Given the description of an element on the screen output the (x, y) to click on. 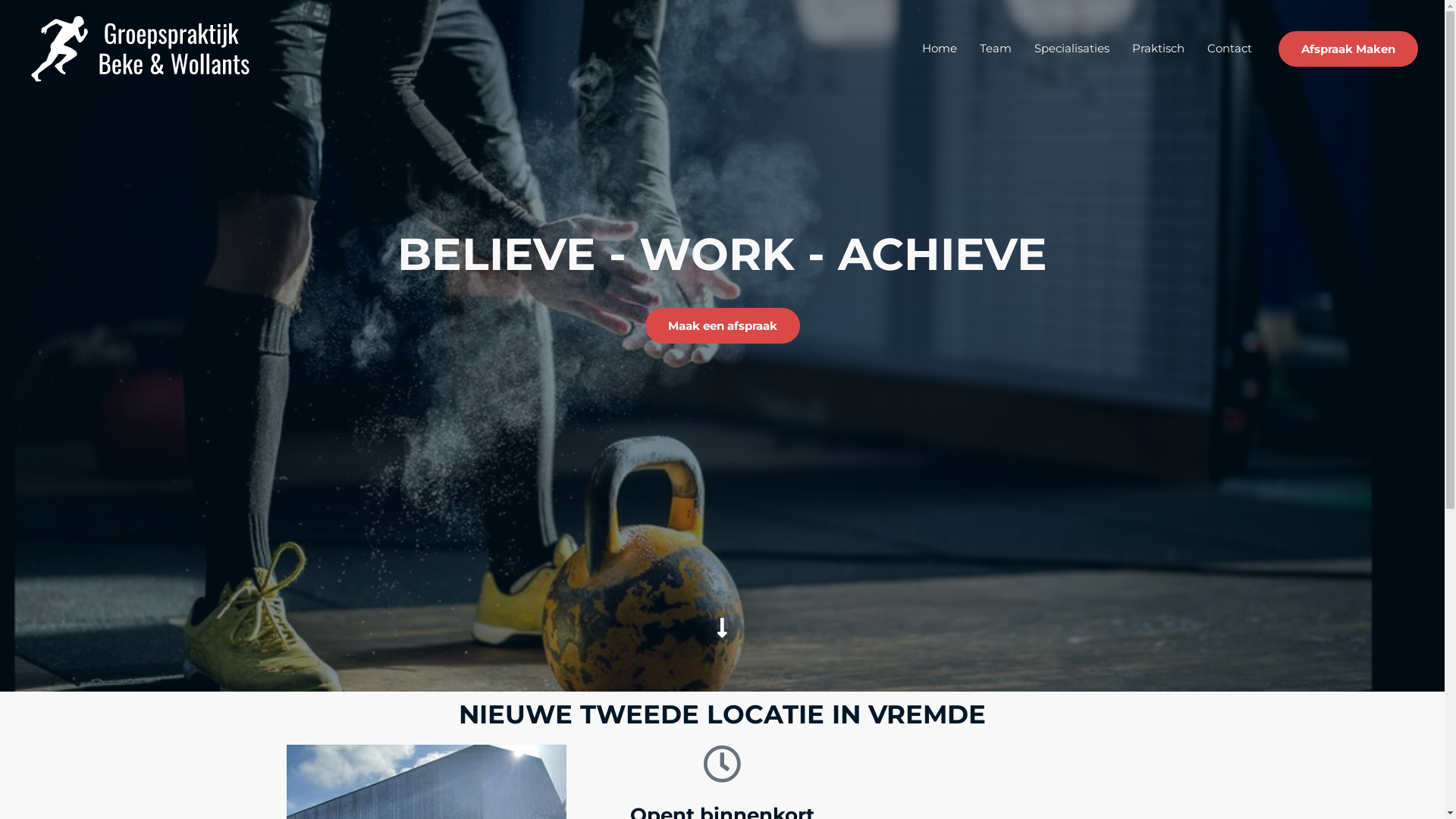
Specialisaties Element type: text (1071, 48)
Afspraak Maken Element type: text (1348, 47)
Home Element type: text (939, 48)
Contact Element type: text (1229, 48)
Maak een afspraak Element type: text (721, 325)
Team Element type: text (995, 48)
Praktisch Element type: text (1157, 48)
